Given the description of an element on the screen output the (x, y) to click on. 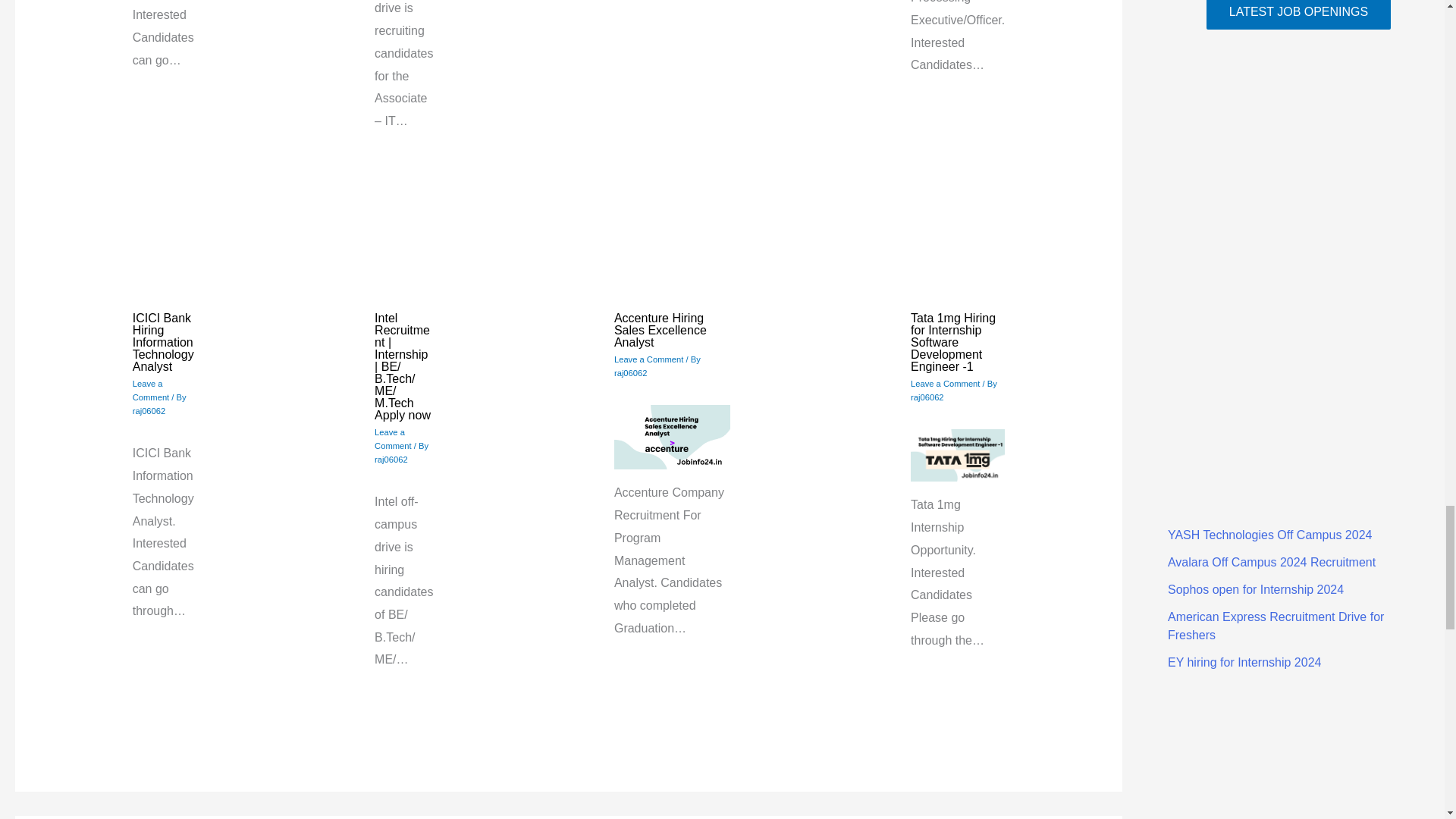
View all posts by raj06062 (148, 410)
View all posts by raj06062 (390, 459)
View all posts by raj06062 (927, 397)
Accenture Hiring Sales Excellence Analyst 6 (672, 437)
View all posts by raj06062 (630, 372)
